Given the description of an element on the screen output the (x, y) to click on. 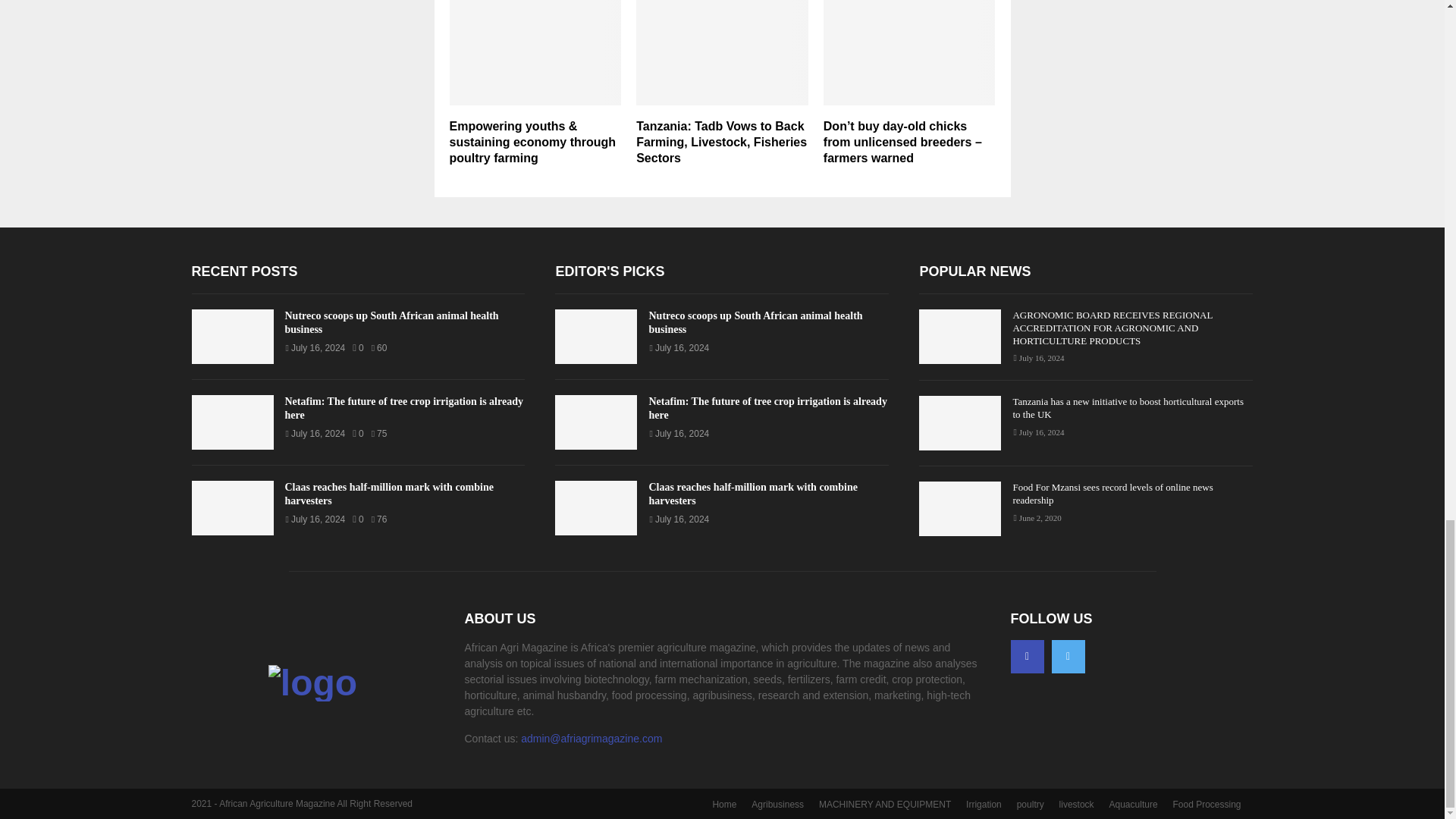
Nutreco scoops up South African animal health business (231, 336)
 Nutreco scoops up South African animal health business  (392, 322)
Netafim: The future of tree crop irrigation is already here (231, 421)
